Given the description of an element on the screen output the (x, y) to click on. 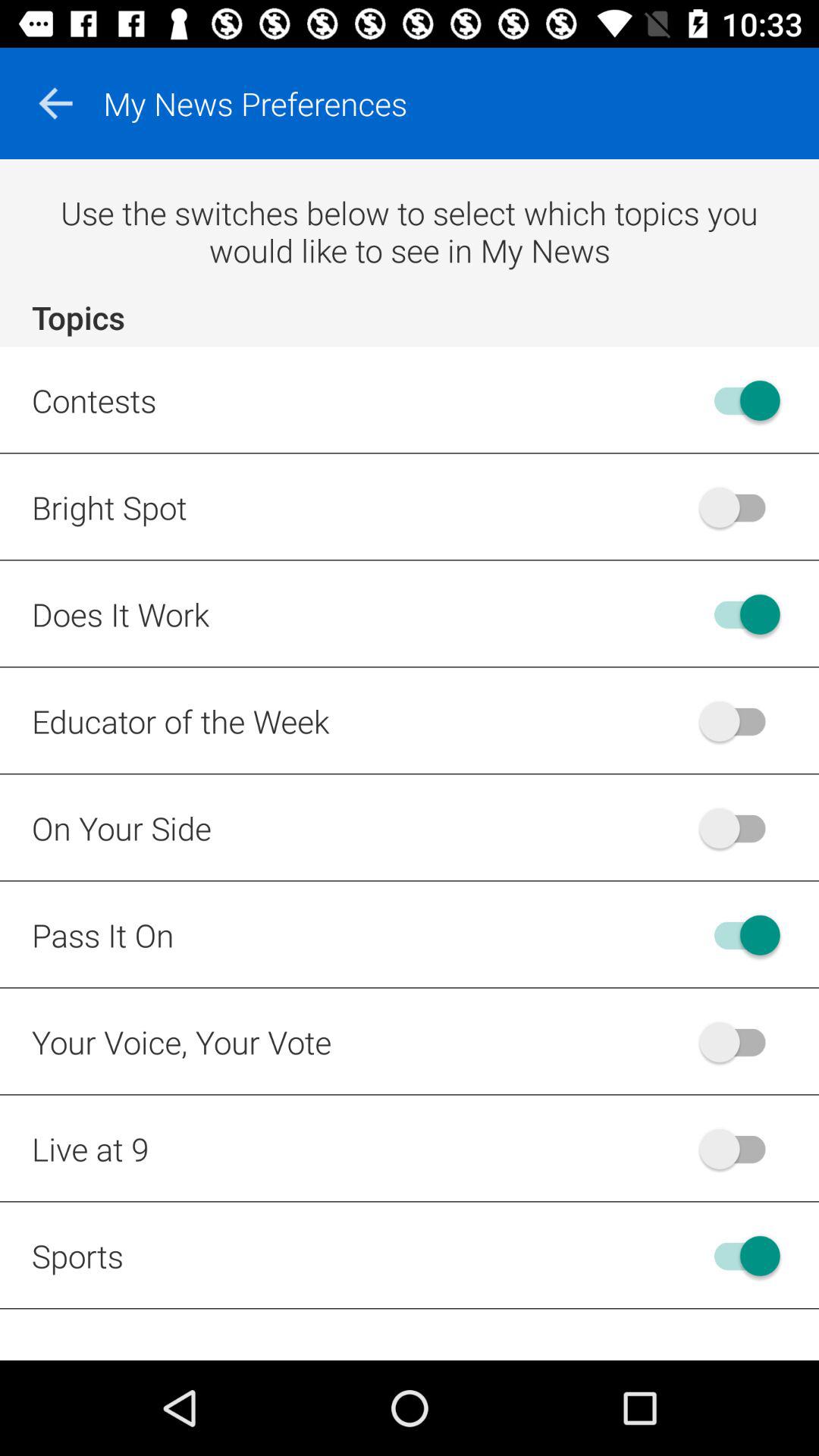
toggle a topic on/off (739, 1148)
